Given the description of an element on the screen output the (x, y) to click on. 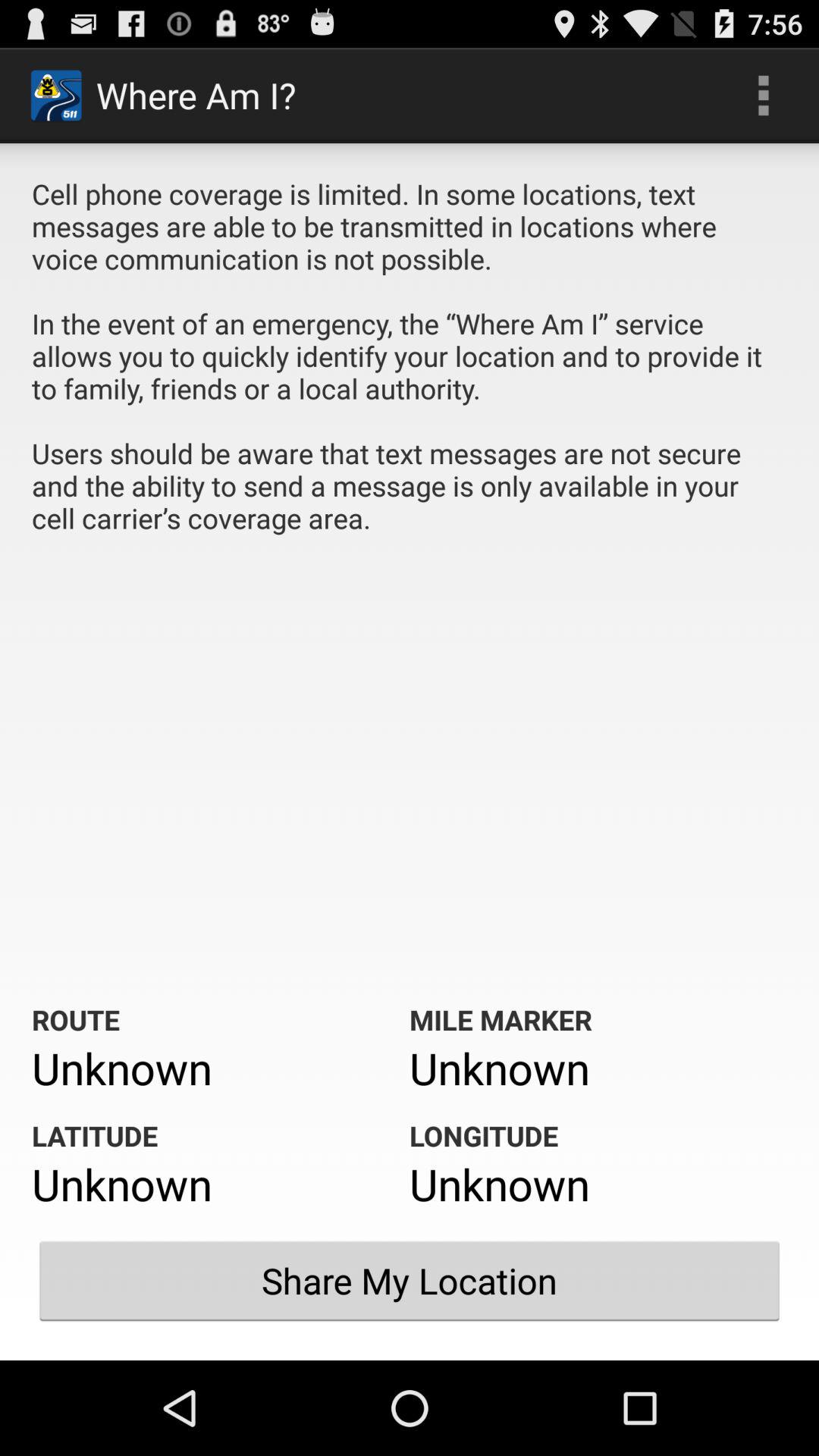
choose the share my location icon (409, 1280)
